Given the description of an element on the screen output the (x, y) to click on. 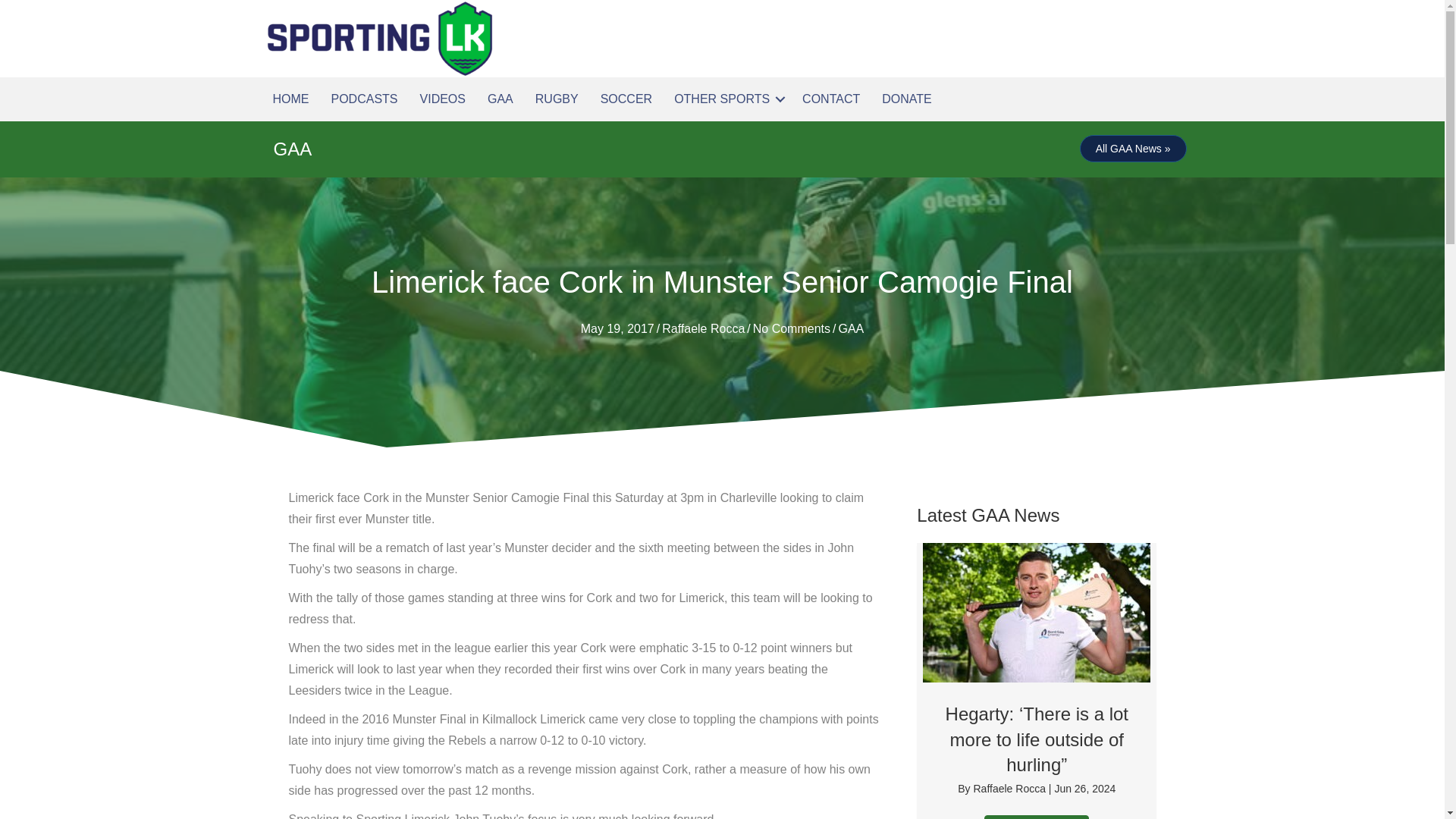
PODCASTS (363, 98)
VIDEOS (442, 98)
HOME (291, 98)
